Given the description of an element on the screen output the (x, y) to click on. 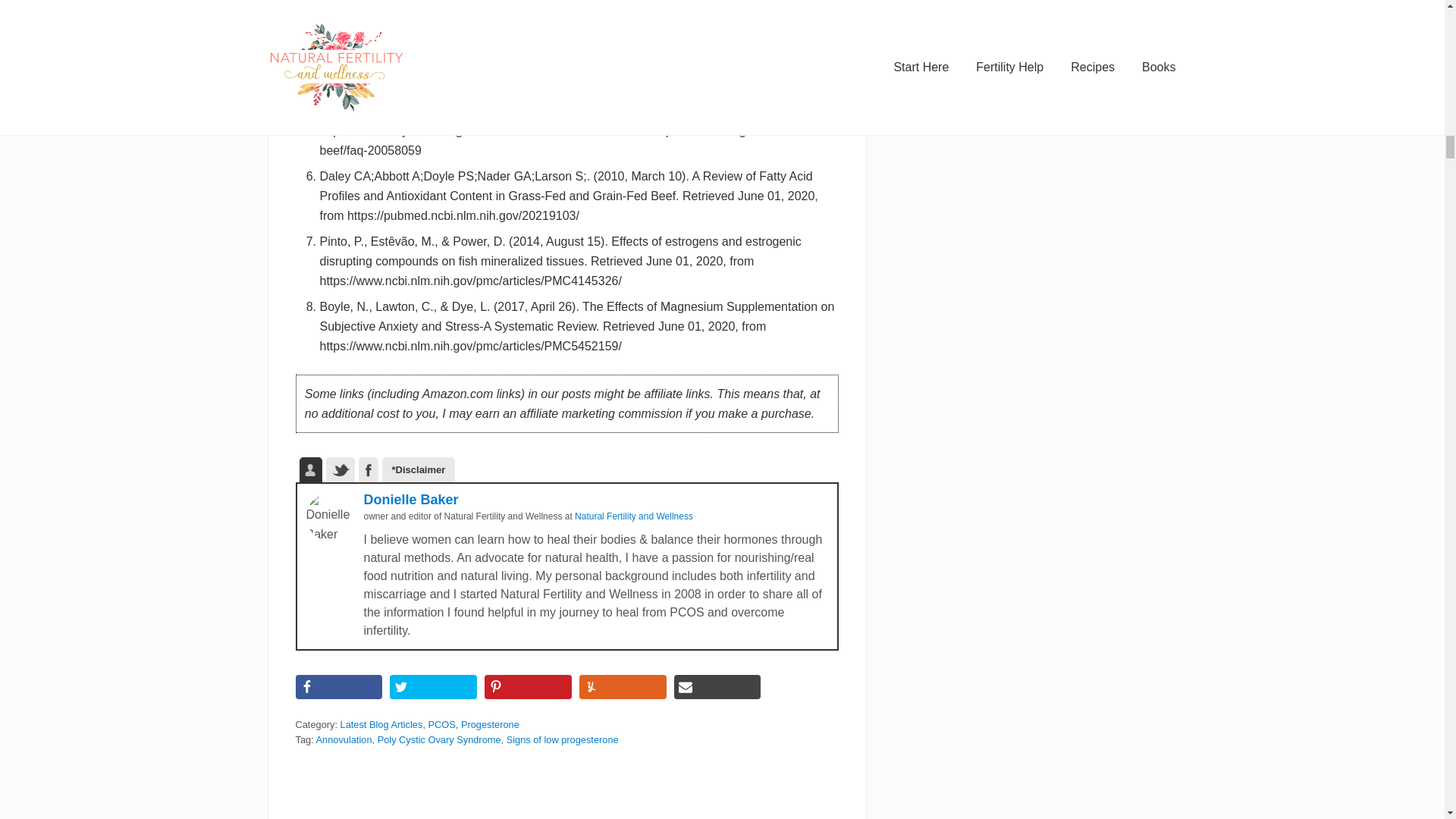
Share on Yummly (622, 686)
Share on Twitter (433, 686)
Share on Pinterest (528, 686)
Share on Facebook (338, 686)
